Given the description of an element on the screen output the (x, y) to click on. 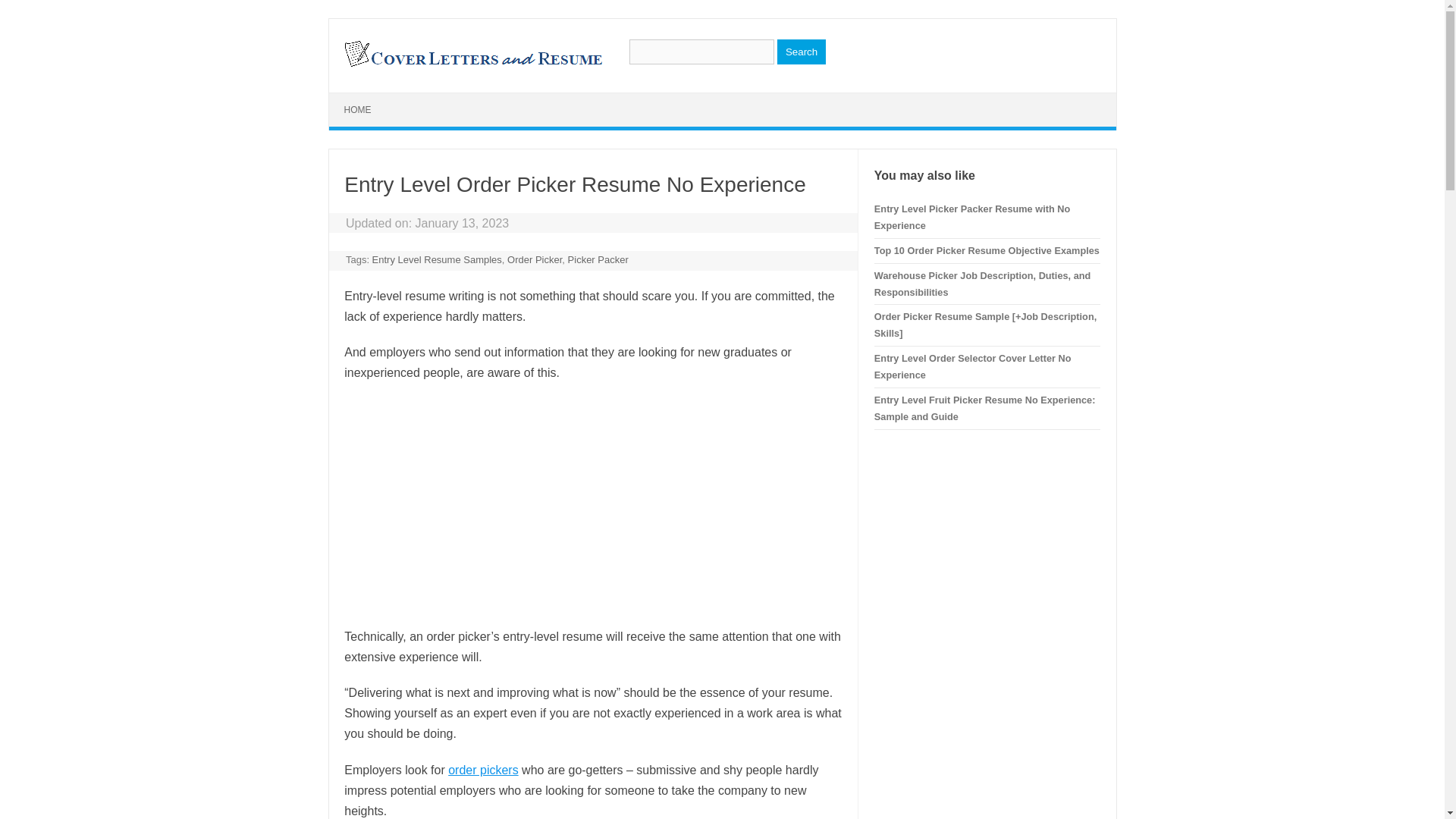
Order Picker (534, 259)
HOME (358, 109)
Entry Level Resume Samples (437, 259)
Cover Letters and Resume Samples (471, 65)
Advertisement (592, 504)
Picker Packer (597, 259)
